Given the description of an element on the screen output the (x, y) to click on. 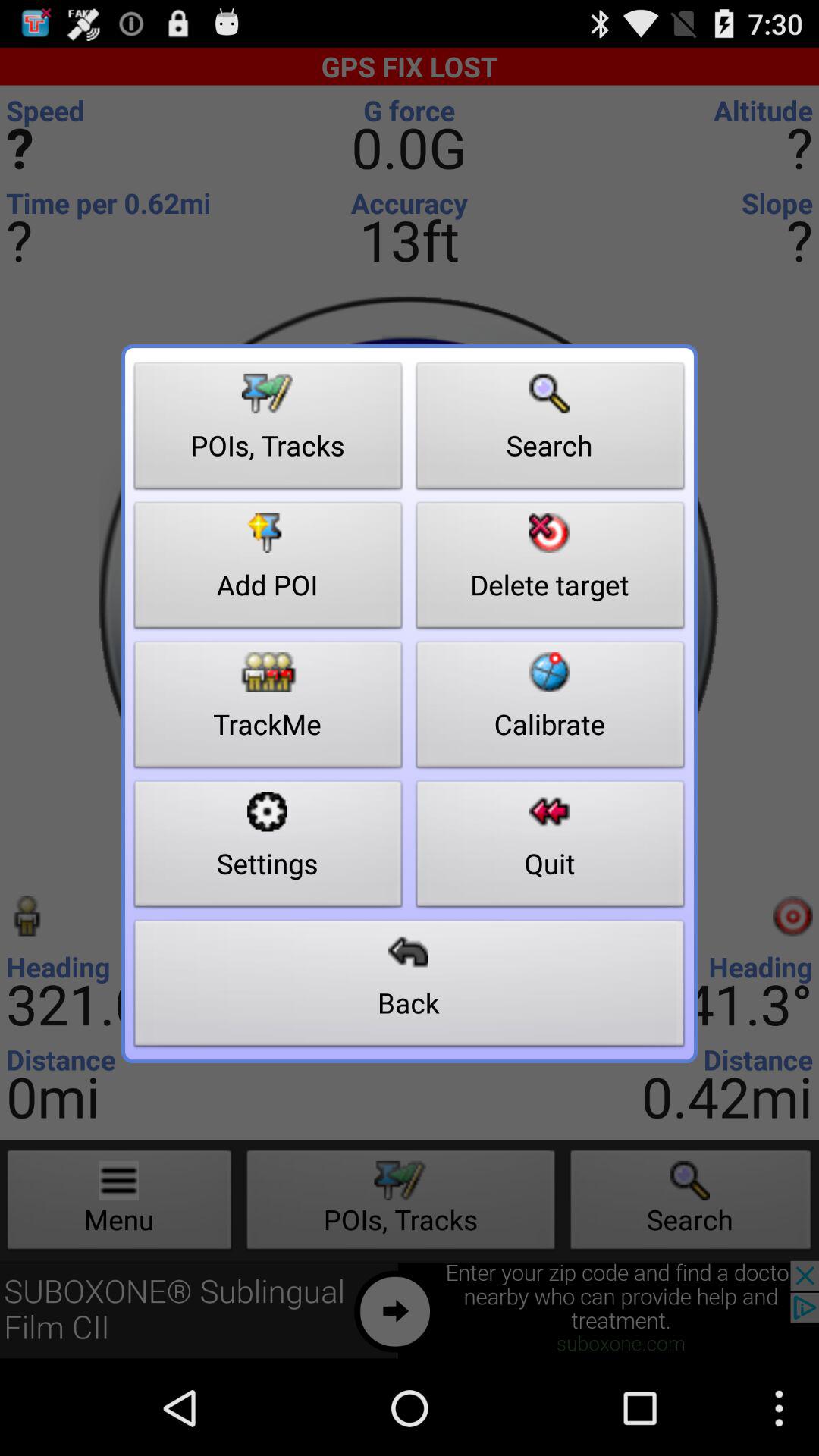
press calibrate item (550, 708)
